Given the description of an element on the screen output the (x, y) to click on. 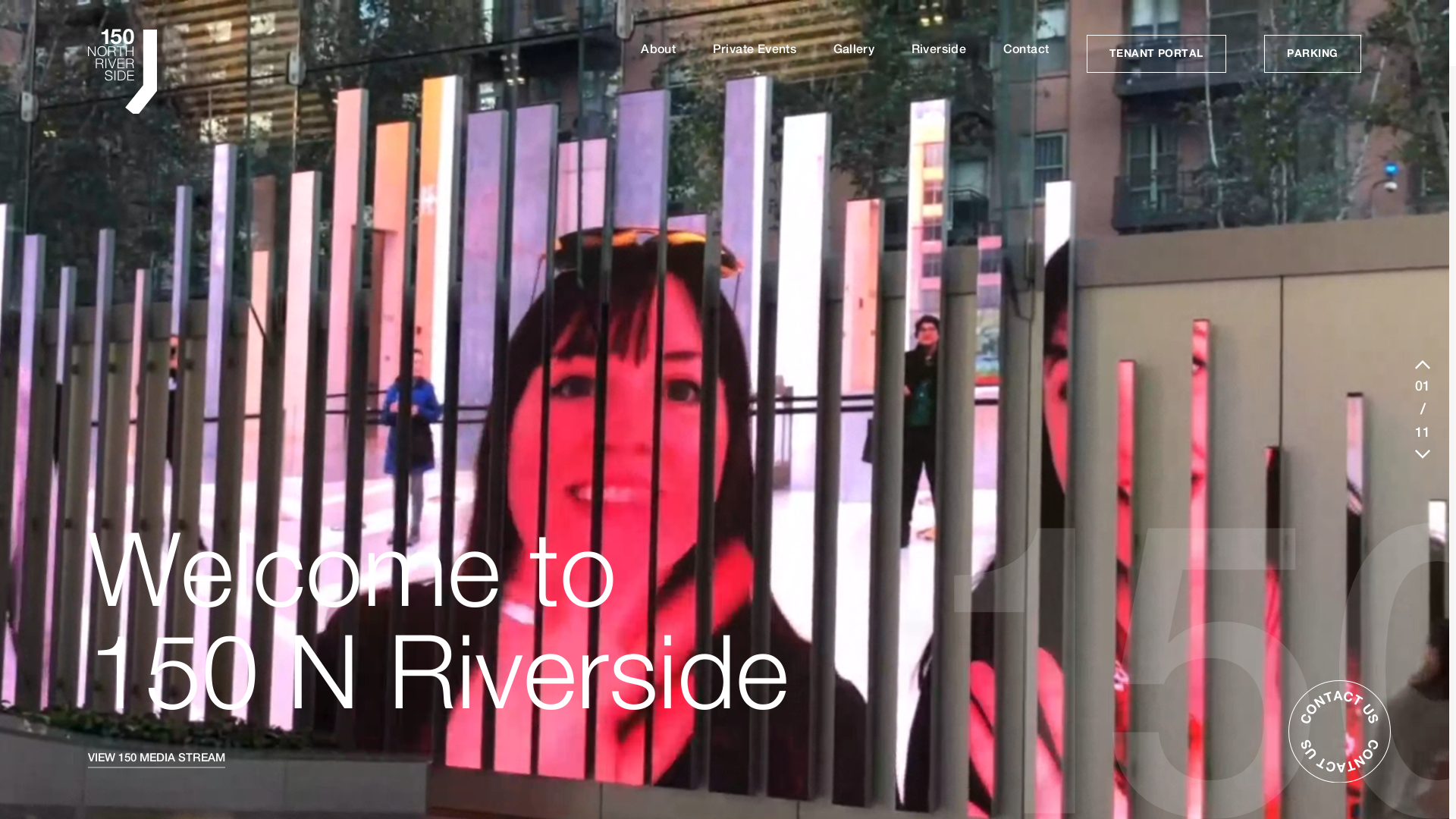
VIEW 150 MEDIA STREAM Element type: text (156, 757)
About Element type: text (657, 48)
home Element type: hover (129, 72)
TENANT PORTAL Element type: text (1155, 53)
Private Events Element type: text (754, 48)
Contact Element type: text (1026, 48)
Gallery Element type: text (854, 48)
Riverside Element type: text (938, 48)
PARKING Element type: text (1312, 53)
